Given the description of an element on the screen output the (x, y) to click on. 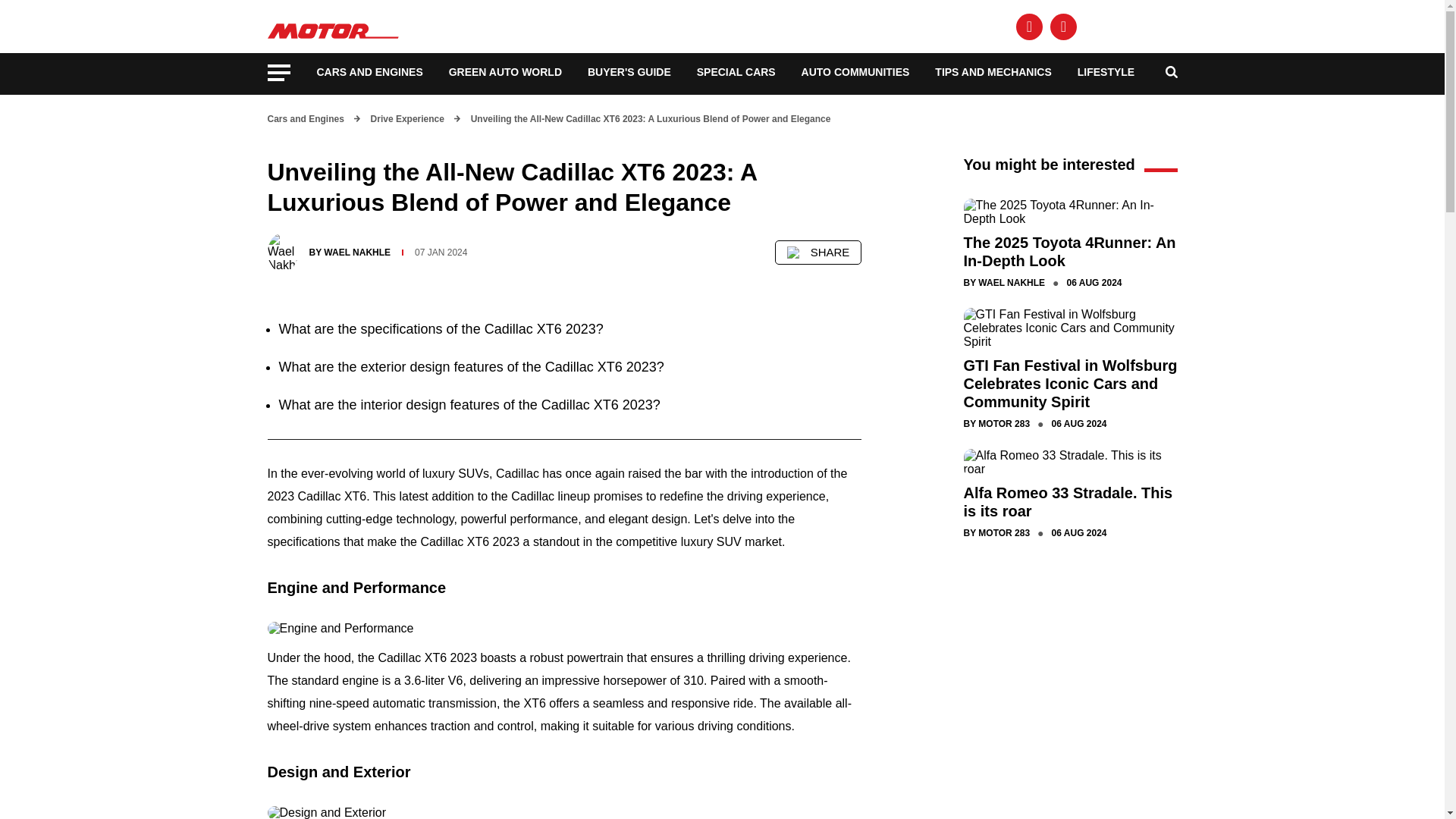
AUTO COMMUNITIES (856, 71)
CARS AND ENGINES (370, 71)
Motor 283 (335, 24)
GREEN AUTO WORLD (505, 71)
TIPS AND MECHANICS (992, 71)
LIFESTYLE (1105, 71)
BUYER'S GUIDE (629, 71)
SUBSCRIBE (1141, 25)
SPECIAL CARS (736, 71)
